Given the description of an element on the screen output the (x, y) to click on. 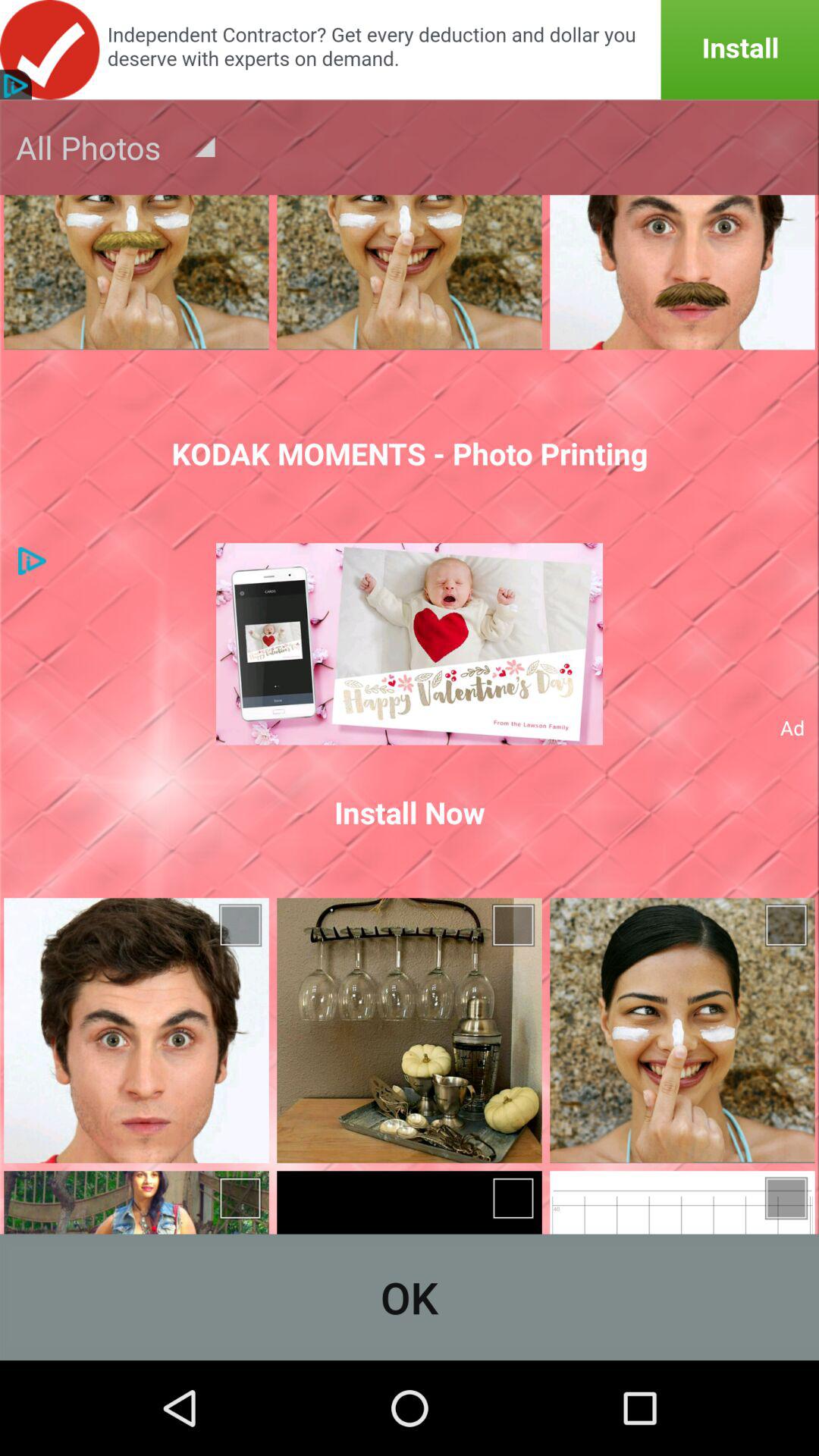
click advertisement (409, 49)
